Given the description of an element on the screen output the (x, y) to click on. 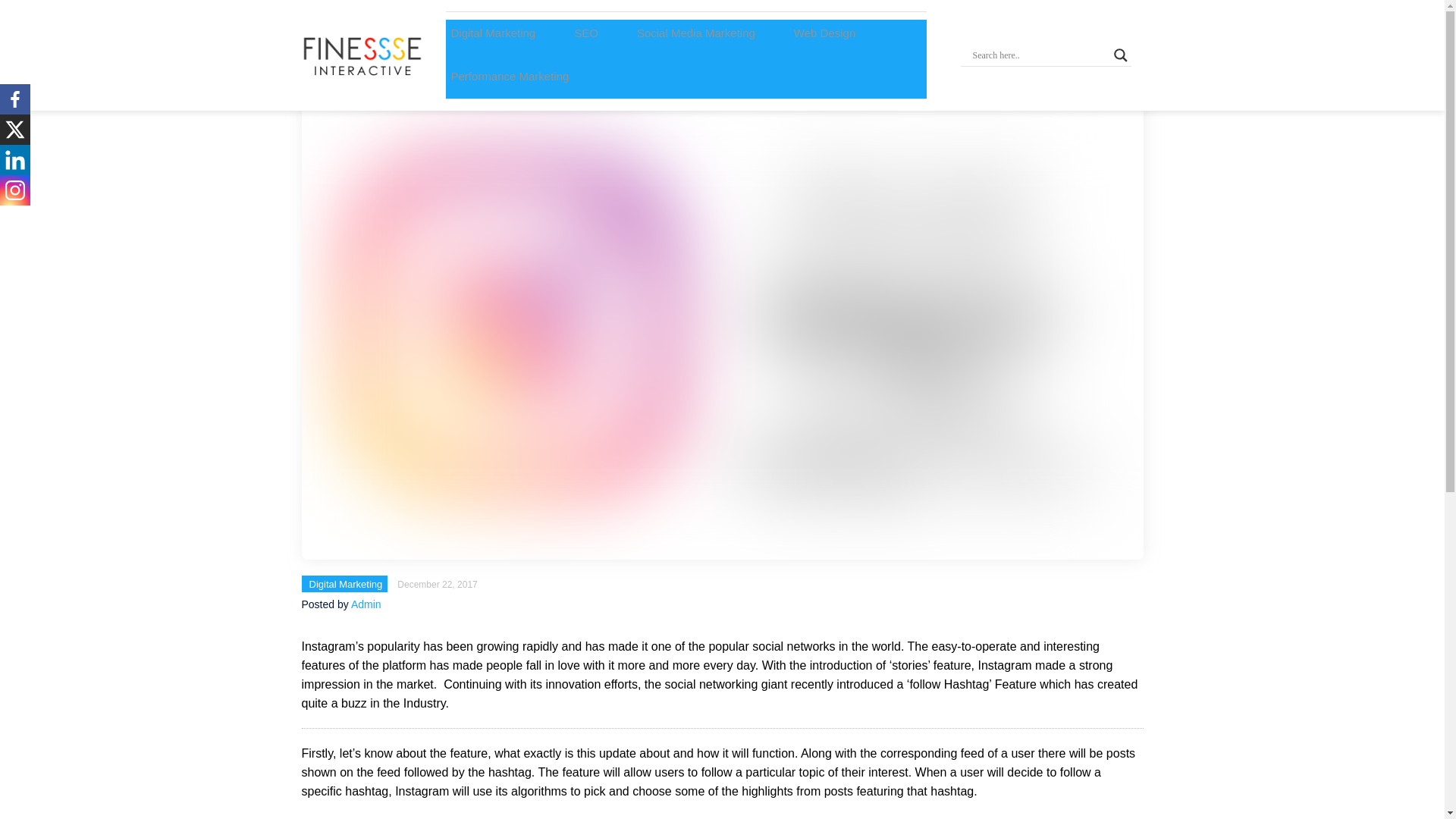
Linkedin (15, 159)
Instagram (15, 190)
Performance Marketing (510, 75)
Digital Marketing (493, 32)
Social Media Marketing (695, 32)
Admin (365, 604)
Facebook (15, 99)
Digital Marketing (345, 583)
X (15, 129)
Posts by Admin (365, 604)
